Given the description of an element on the screen output the (x, y) to click on. 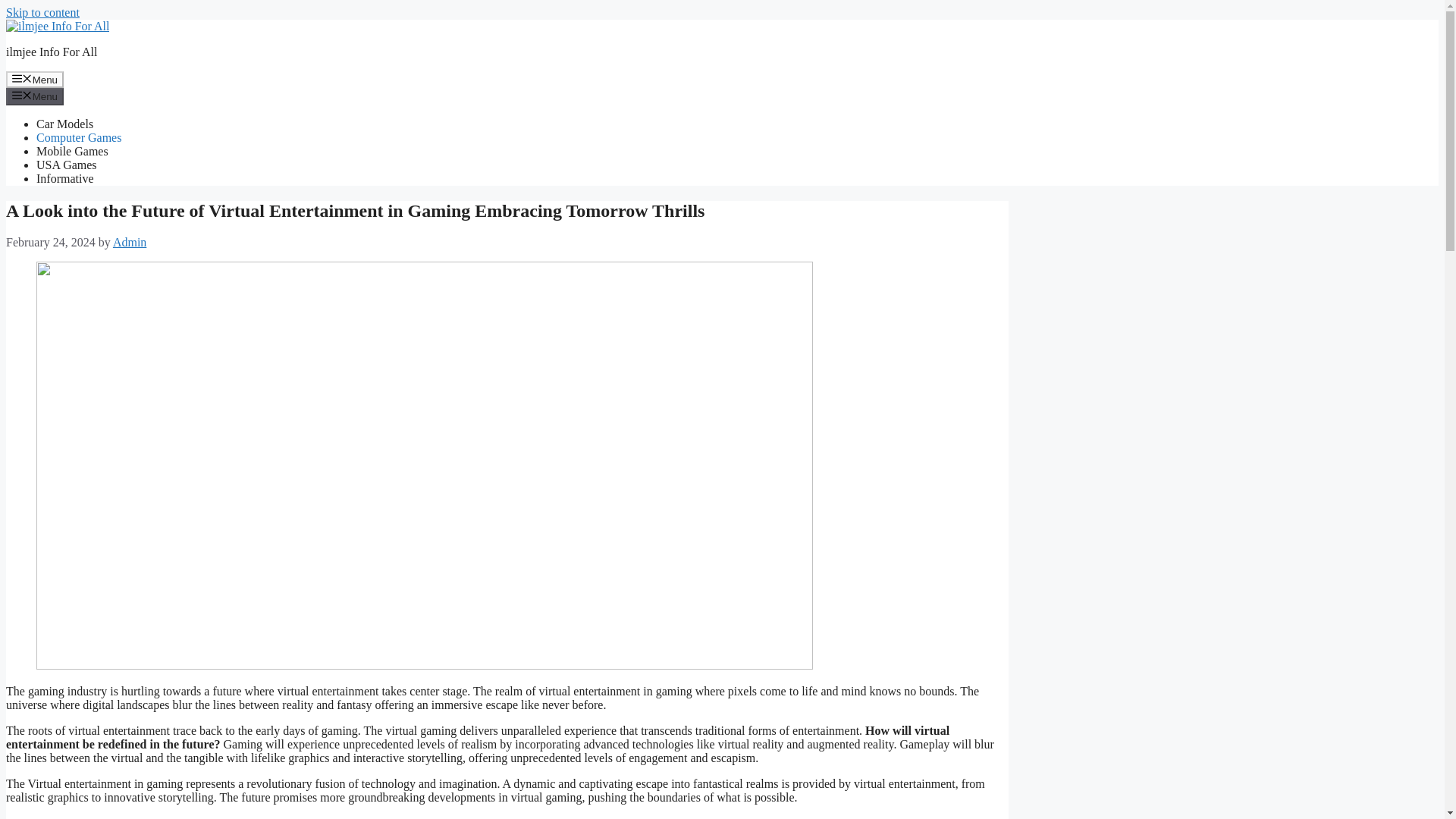
Mobile Games (71, 151)
Skip to content (42, 11)
Skip to content (42, 11)
USA Games (66, 164)
Menu (34, 79)
View all posts by Admin (130, 241)
Informative (65, 178)
Menu (34, 95)
Car Models (64, 123)
ilmjee Info For All (51, 51)
Admin (130, 241)
Computer Games (78, 137)
